Given the description of an element on the screen output the (x, y) to click on. 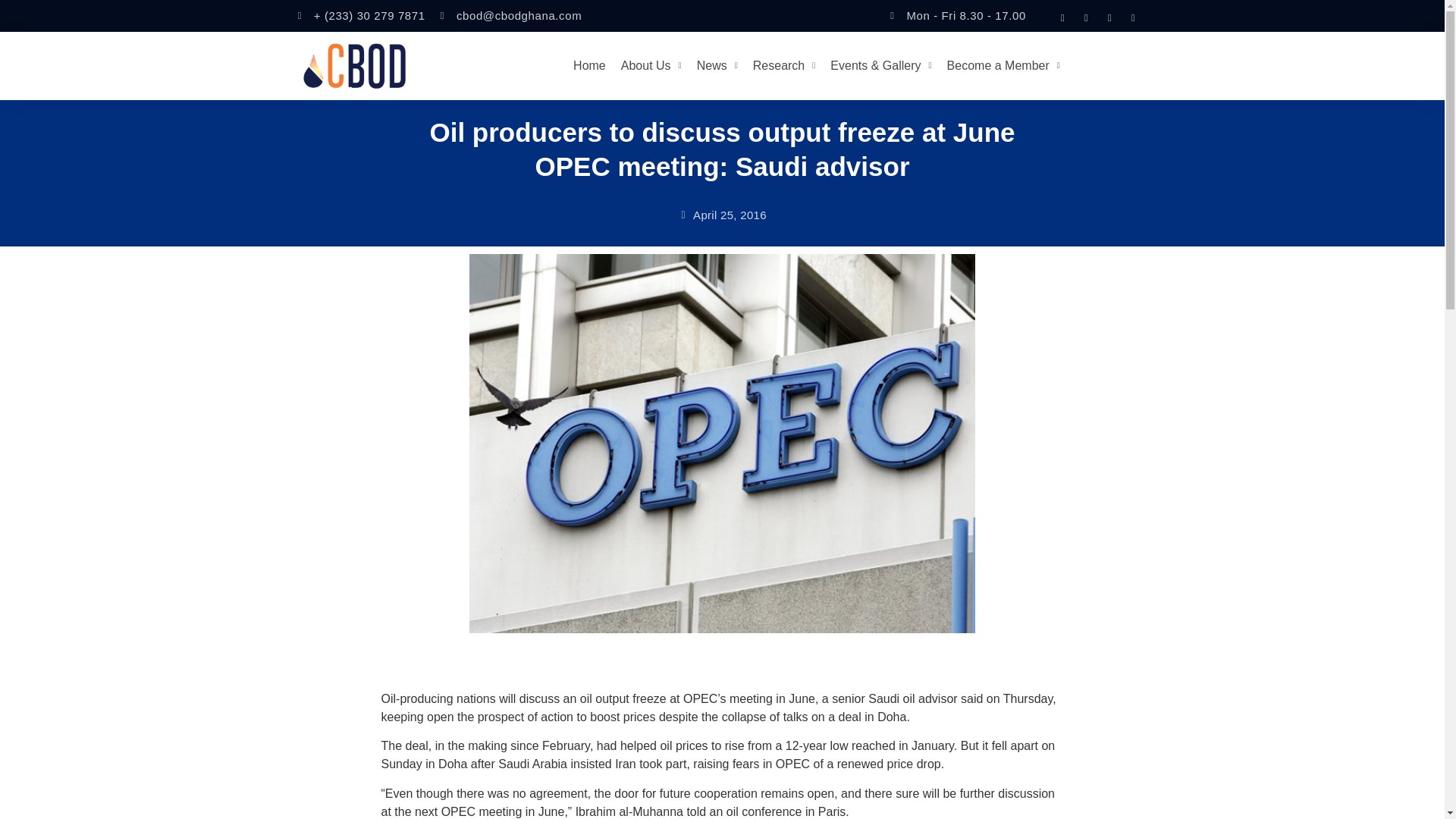
Research (784, 65)
About Us (650, 65)
Become a Member (1003, 65)
